Given the description of an element on the screen output the (x, y) to click on. 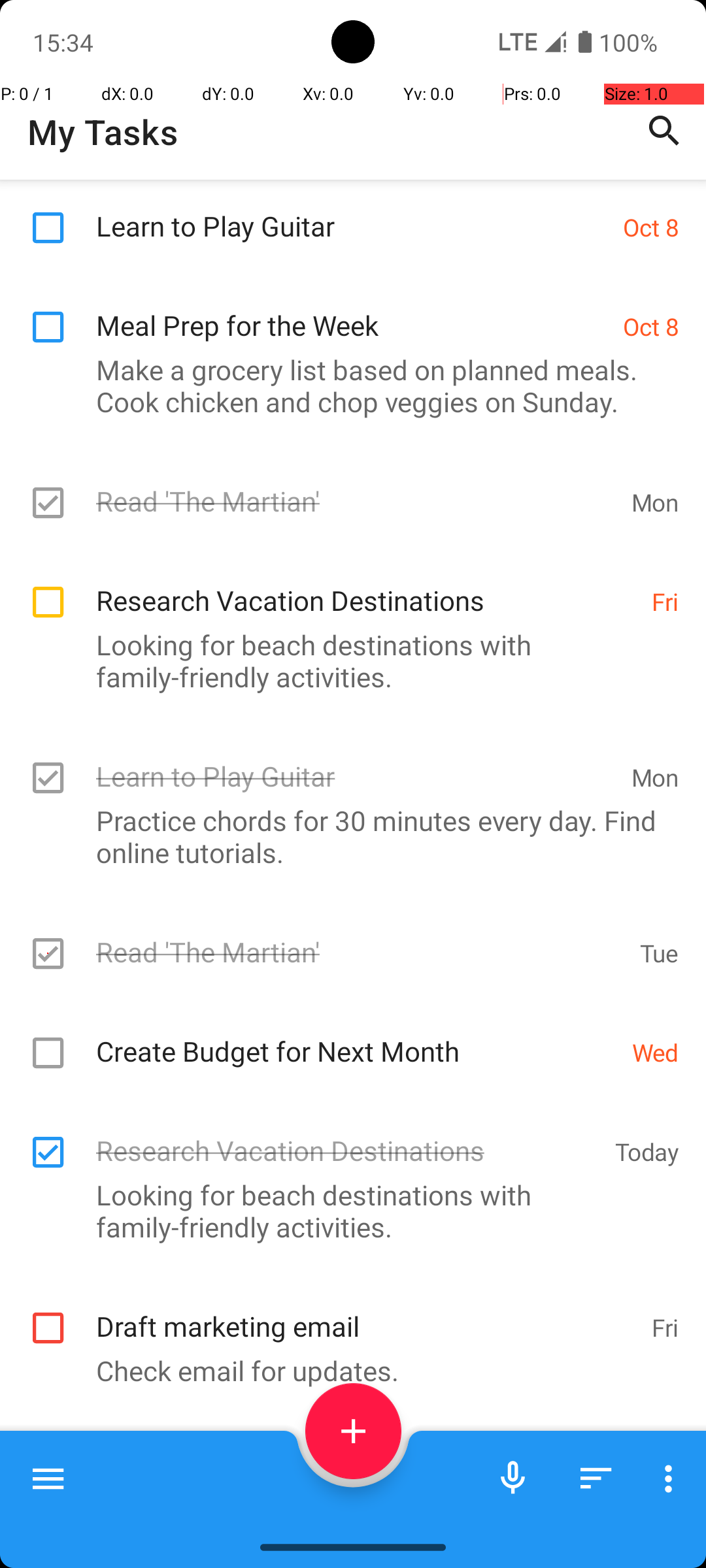
Make a grocery list based on planned meals. Cook chicken and chop veggies on Sunday. Element type: android.widget.TextView (346, 385)
Looking for beach destinations with family-friendly activities. Element type: android.widget.TextView (346, 660)
Draft marketing email Element type: android.widget.TextView (367, 1311)
Check email for updates. Element type: android.widget.TextView (346, 1369)
